Given the description of an element on the screen output the (x, y) to click on. 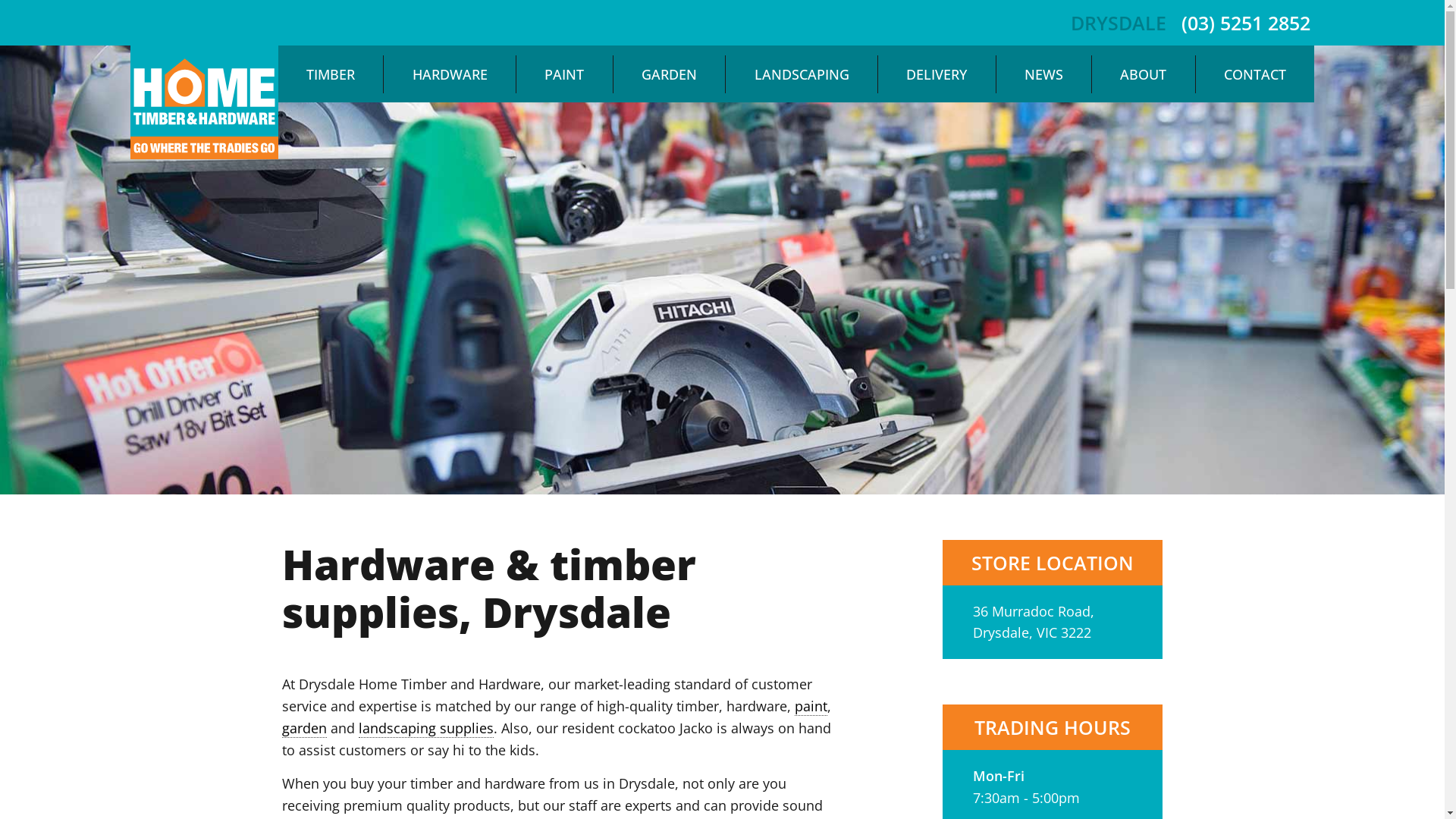
CONTACT Element type: text (1254, 73)
landscaping supplies Element type: text (425, 727)
DELIVERY Element type: text (936, 73)
GARDEN Element type: text (669, 73)
PAINT Element type: text (564, 73)
ABOUT Element type: text (1143, 73)
garden Element type: text (304, 727)
NEWS Element type: text (1044, 73)
paint Element type: text (810, 705)
LANDSCAPING Element type: text (801, 73)
TIMBER Element type: text (330, 73)
HARDWARE Element type: text (449, 73)
